Given the description of an element on the screen output the (x, y) to click on. 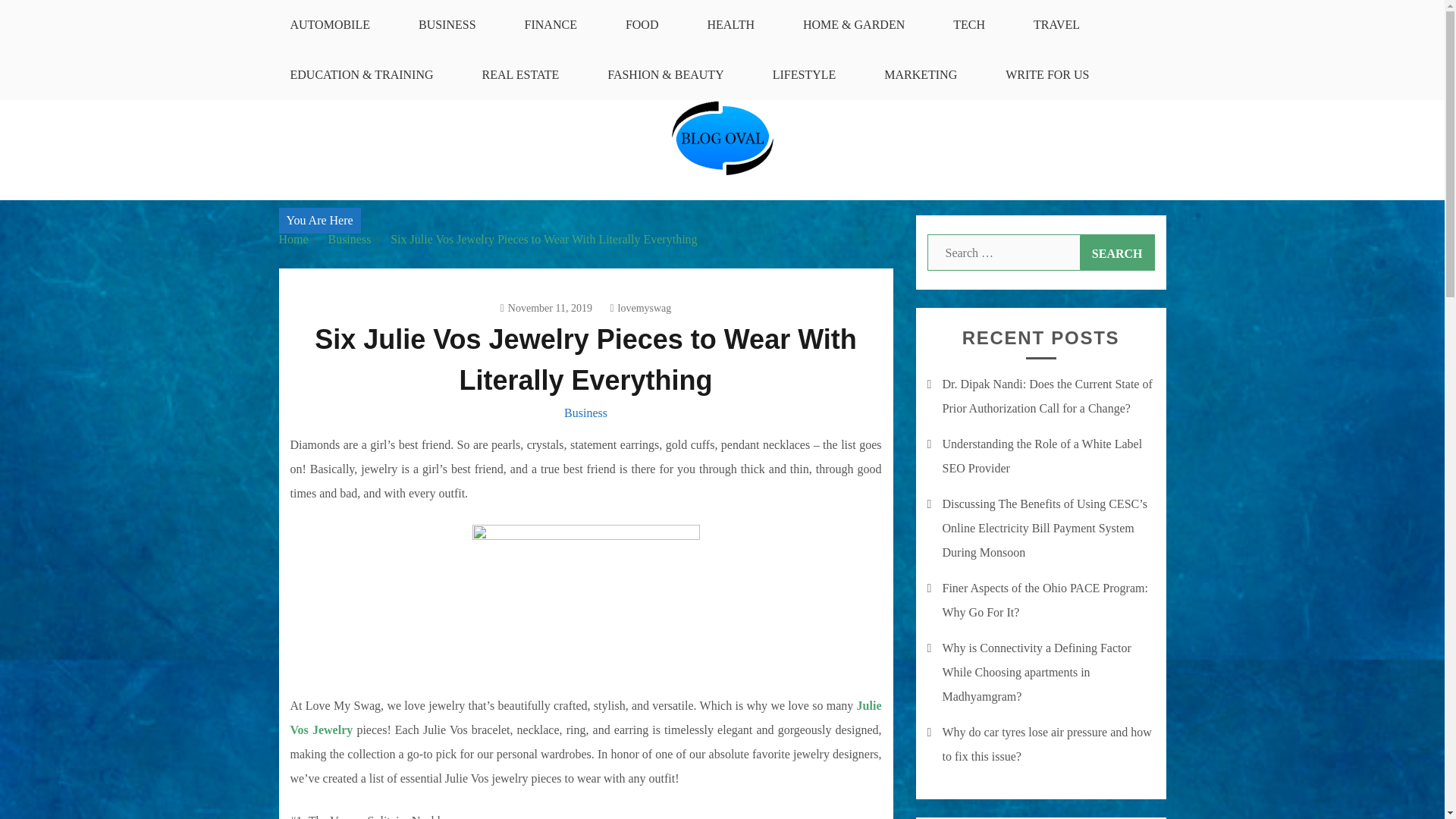
AUTOMOBILE (328, 24)
TRAVEL (1056, 24)
BUSINESS (447, 24)
Search (1117, 252)
HEALTH (730, 24)
WRITE FOR US (1047, 74)
Finer Aspects of the Ohio PACE Program: Why Go For It? (1044, 600)
FINANCE (550, 24)
LIFESTYLE (804, 74)
REAL ESTATE (521, 74)
MARKETING (920, 74)
Blog Oval (335, 208)
Home (293, 238)
TECH (968, 24)
